Given the description of an element on the screen output the (x, y) to click on. 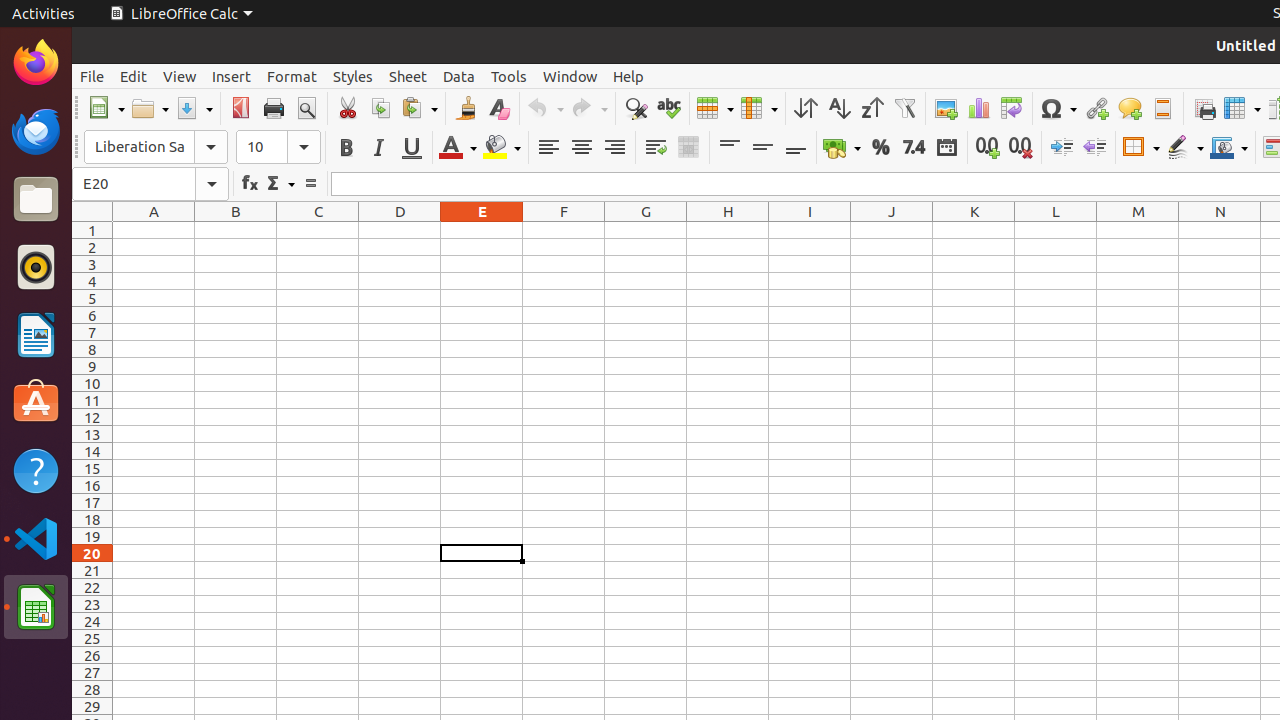
Merge and Center Cells Element type: push-button (688, 147)
Ubuntu Software Element type: push-button (36, 402)
Visual Studio Code Element type: push-button (36, 538)
Formula Element type: push-button (310, 183)
